Given the description of an element on the screen output the (x, y) to click on. 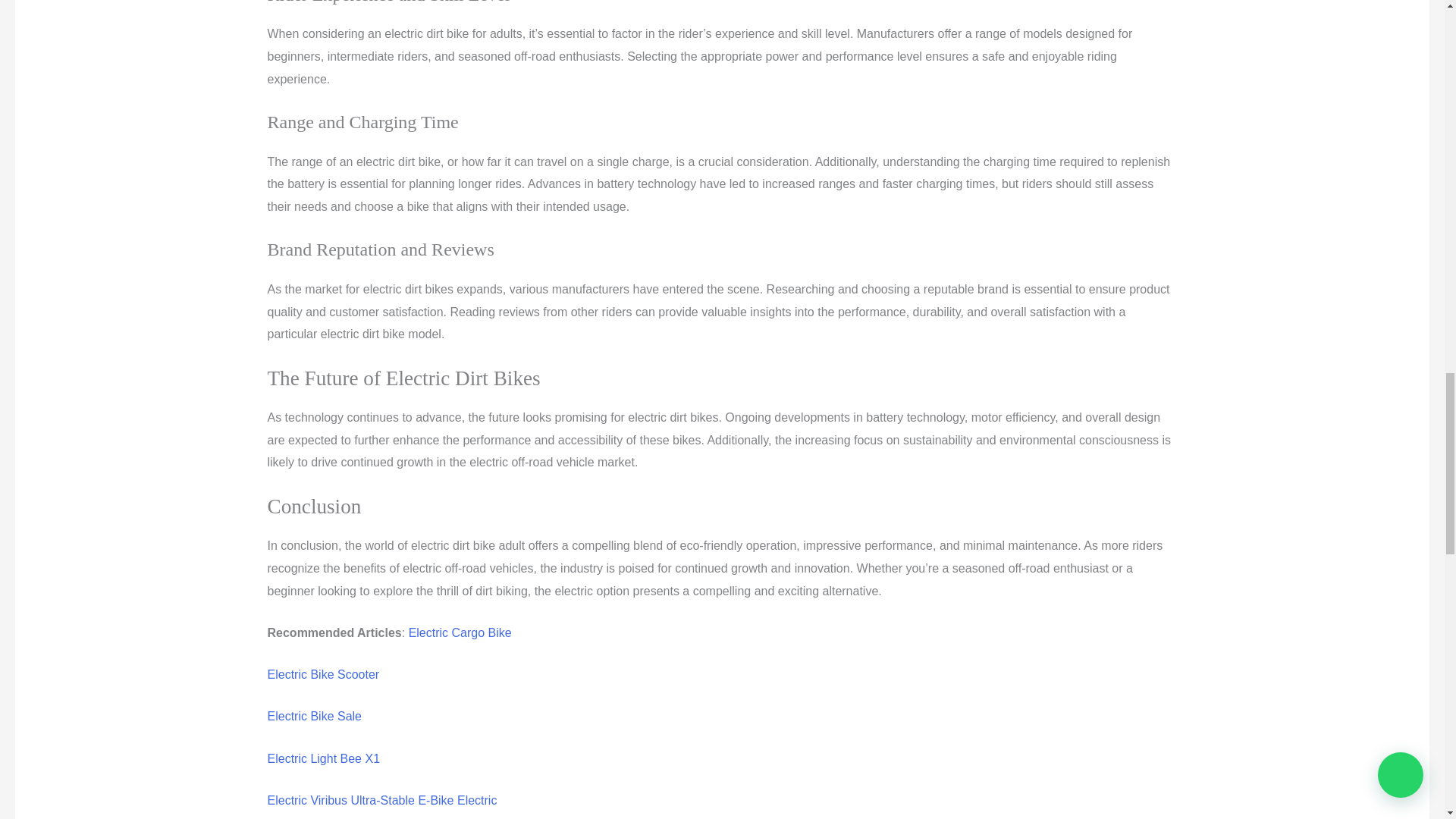
Electric Viribus Ultra-Stable E-Bike Electric (381, 799)
Electric Bike Sale (313, 716)
Electric Cargo Bike (460, 632)
Electric Light Bee X1 (323, 758)
Electric Bike Scooter (322, 674)
